Given the description of an element on the screen output the (x, y) to click on. 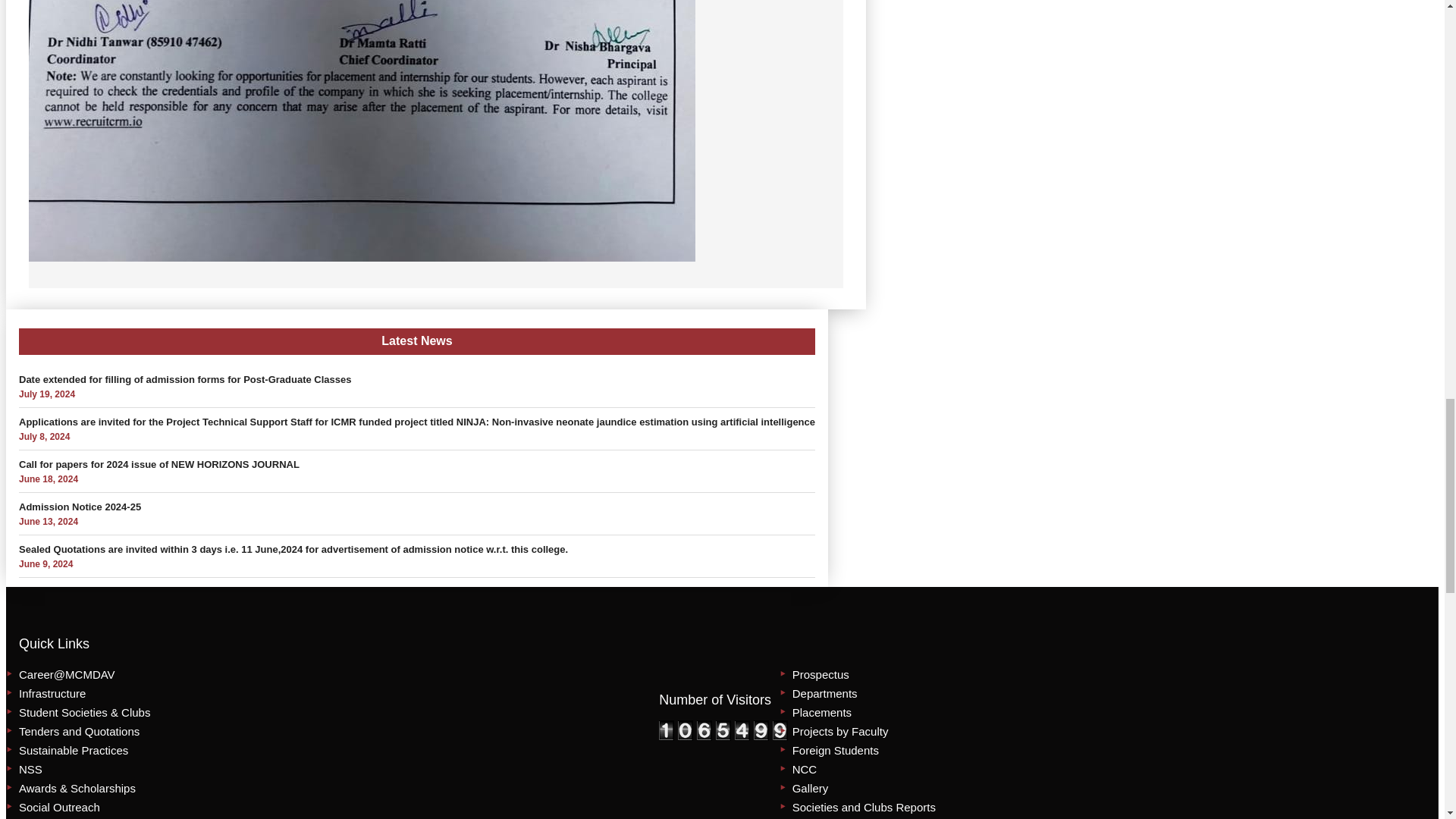
Admission Notice 2024-25 (79, 506)
Call for papers for 2024 issue of NEW HORIZONS JOURNAL (158, 464)
